Given the description of an element on the screen output the (x, y) to click on. 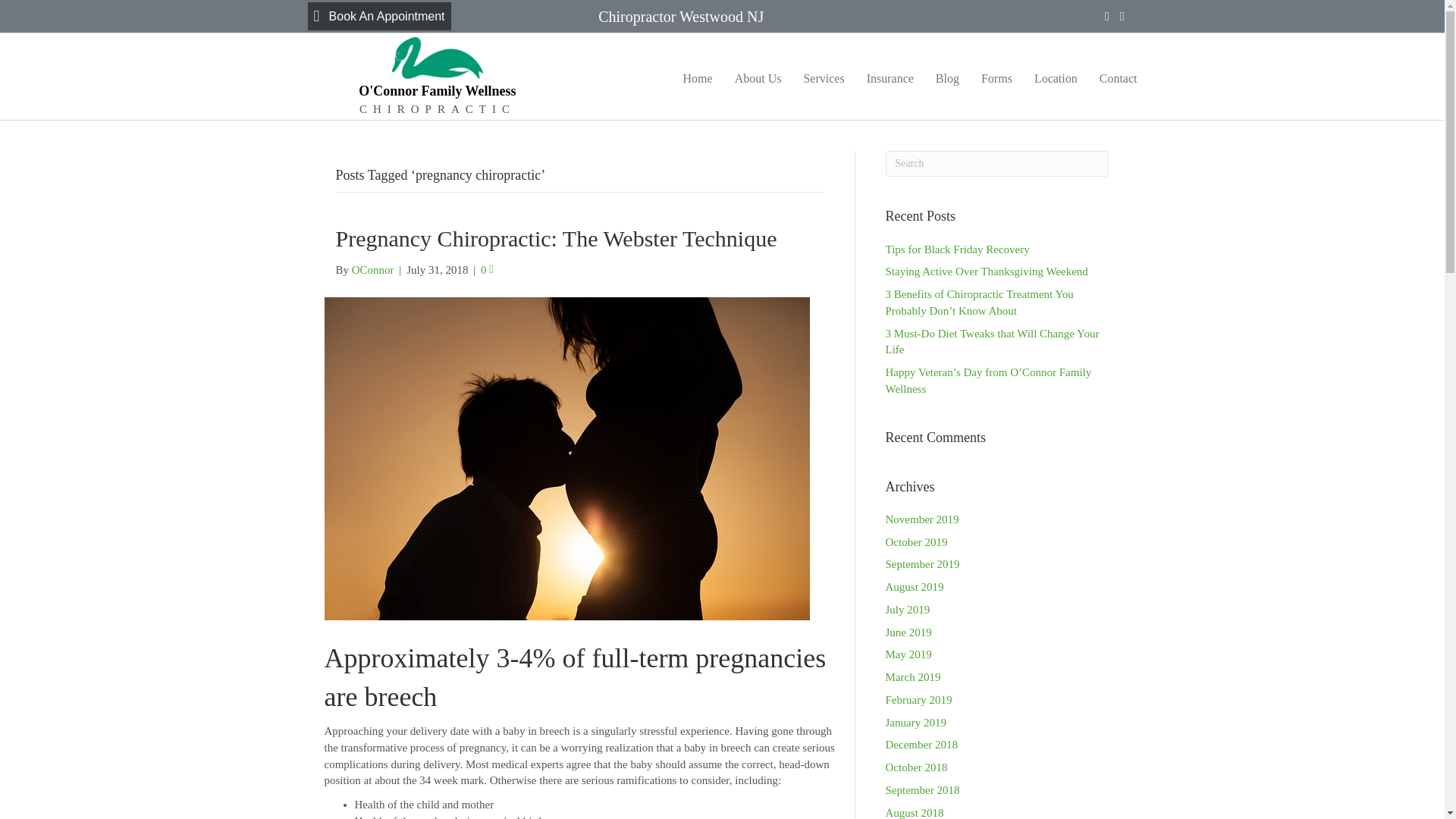
December 2018 (921, 744)
June 2019 (908, 632)
January 2019 (915, 722)
Book An Appointment (379, 16)
Pregnancy Chiropractic: The Webster Technique (555, 238)
Tips for Black Friday Recovery (957, 248)
Home (697, 77)
Contact (1118, 77)
Forms (997, 77)
May 2019 (908, 654)
